Given the description of an element on the screen output the (x, y) to click on. 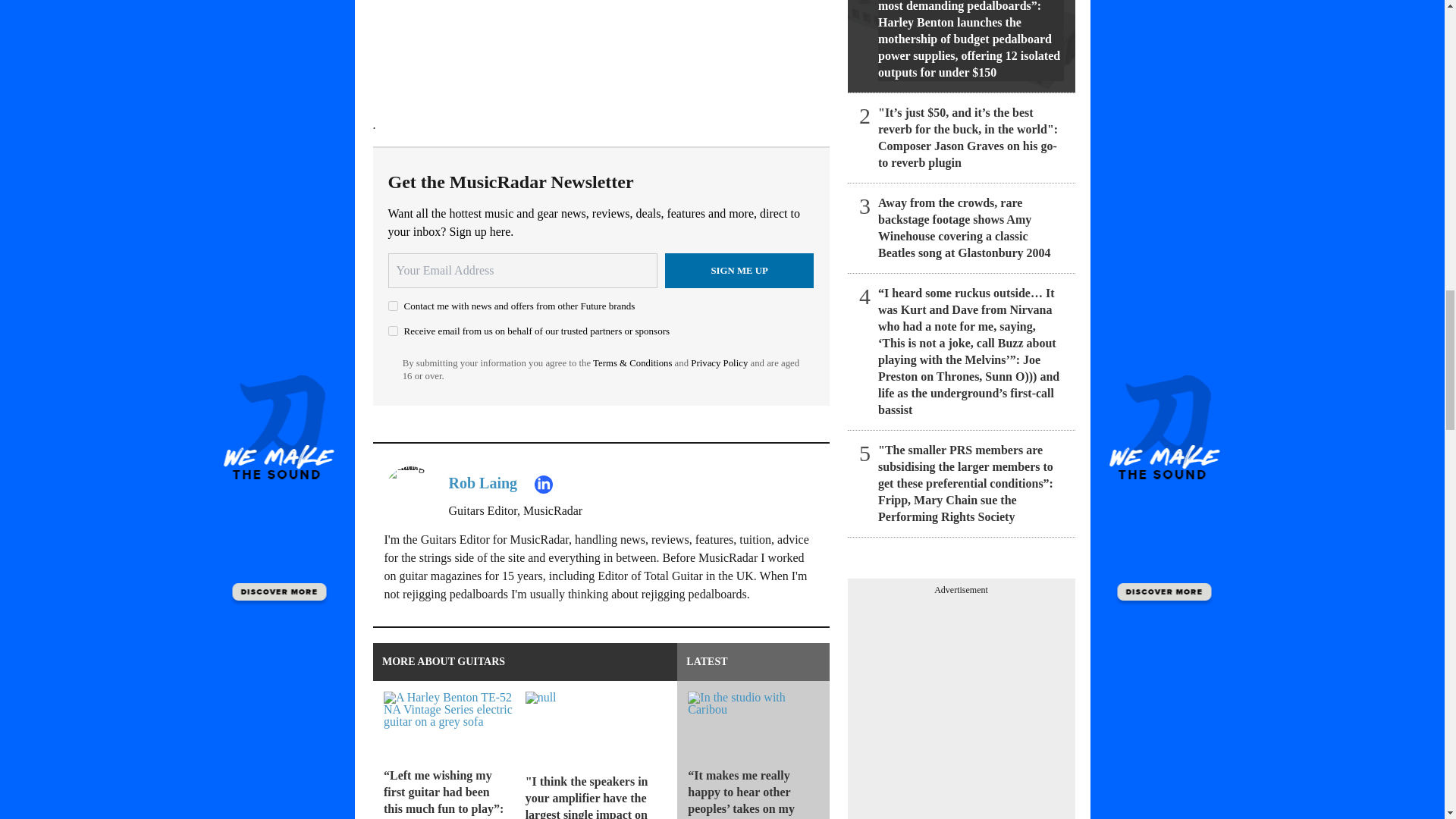
Sign me up (739, 270)
on (392, 330)
on (392, 306)
